Given the description of an element on the screen output the (x, y) to click on. 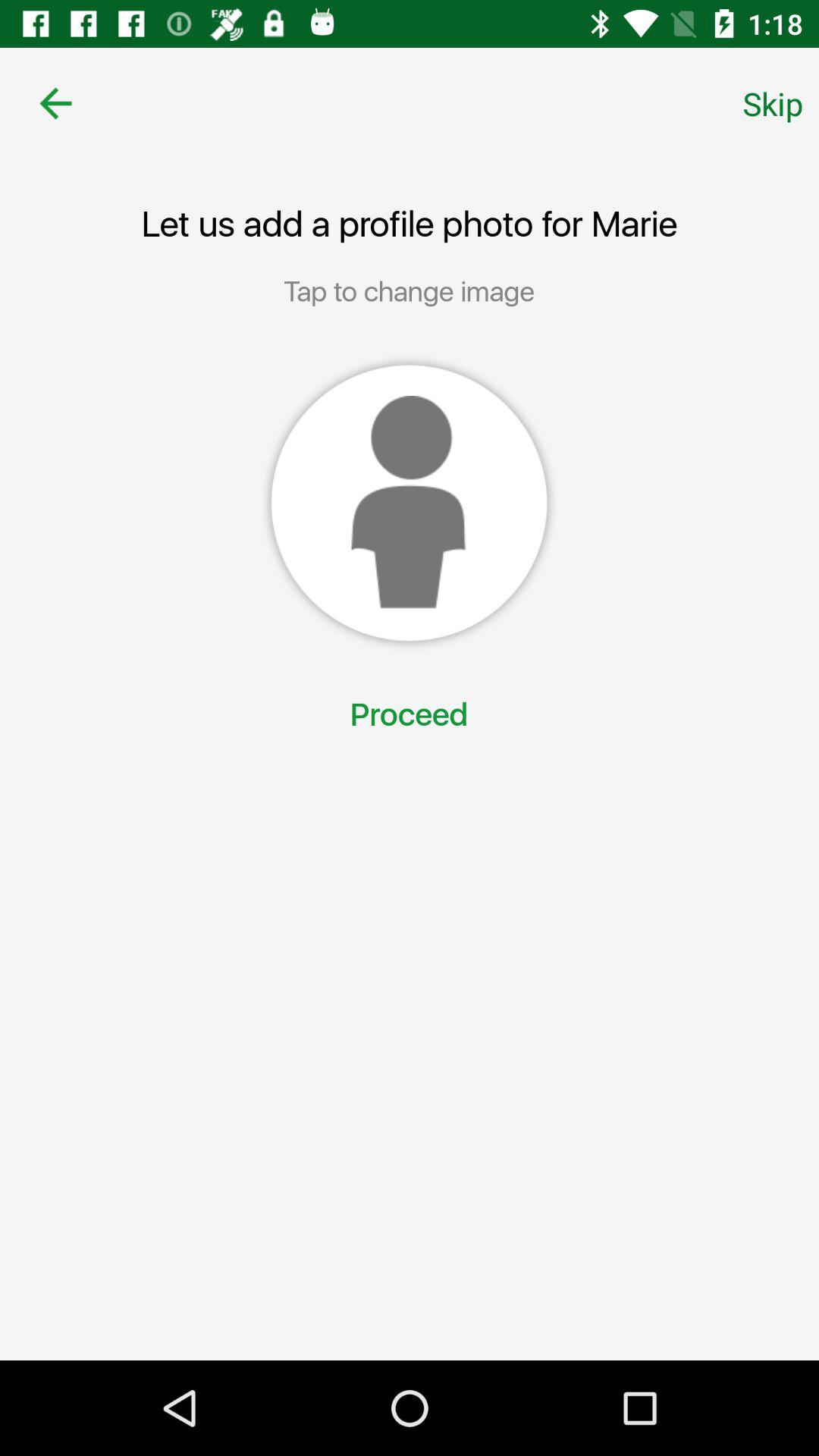
choose proceed item (408, 715)
